Given the description of an element on the screen output the (x, y) to click on. 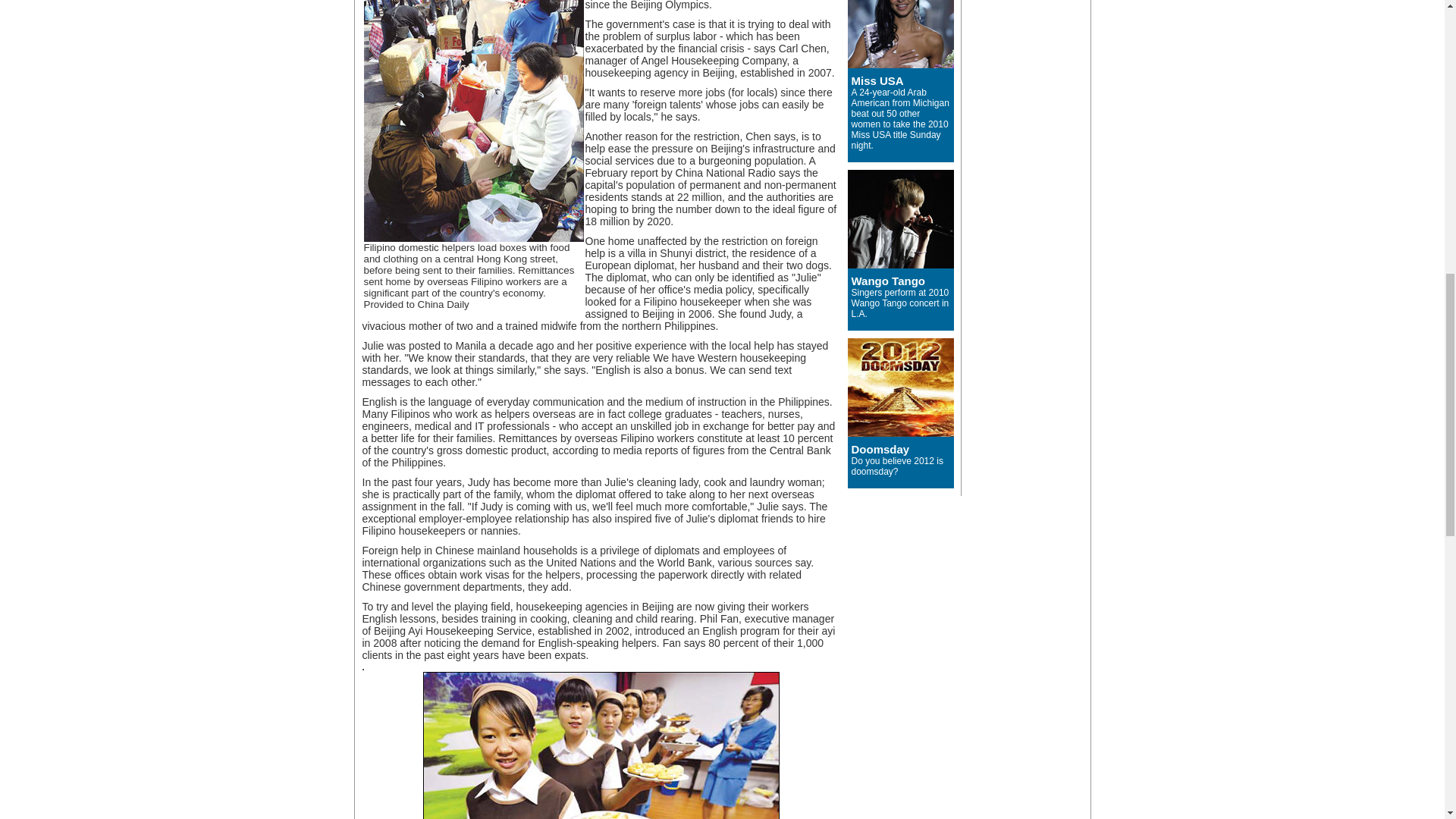
Wango Tango (887, 280)
Singers perform at 2010 Wango Tango concert in L.A. (899, 303)
Miss USA (876, 80)
